Given the description of an element on the screen output the (x, y) to click on. 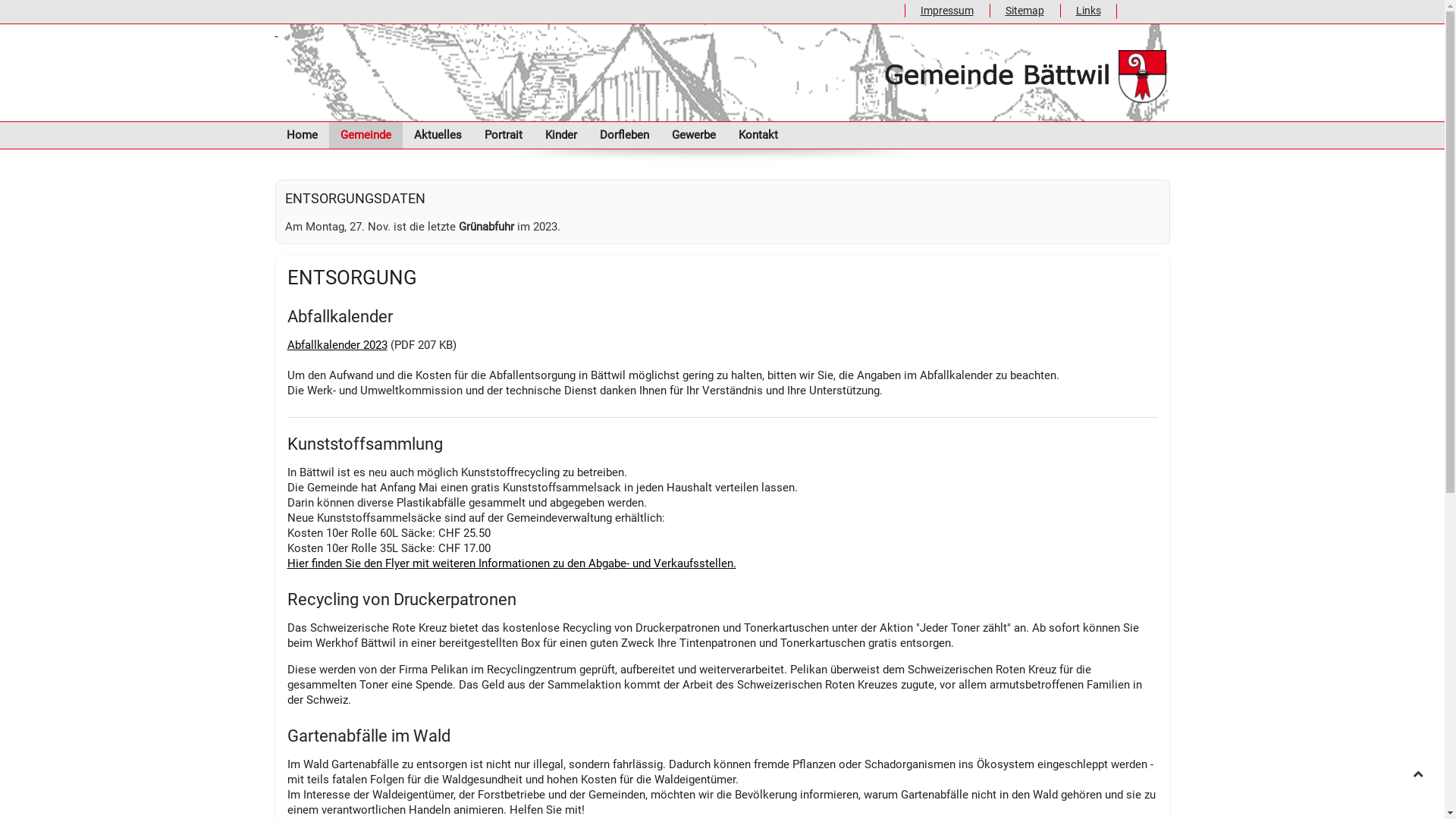
Gewerbe Element type: text (692, 135)
Dorfleben Element type: text (624, 135)
  Element type: text (721, 72)
Links Element type: text (1080, 10)
Aktuelles Element type: text (436, 135)
Impressum Element type: text (937, 10)
Kinder Element type: text (560, 135)
Kontakt Element type: text (757, 135)
Portrait Element type: text (503, 135)
Home Element type: text (301, 135)
Sitemap Element type: text (1015, 10)
Gemeinde Element type: text (365, 135)
Abfallkalender 2023 Element type: text (336, 344)
